Given the description of an element on the screen output the (x, y) to click on. 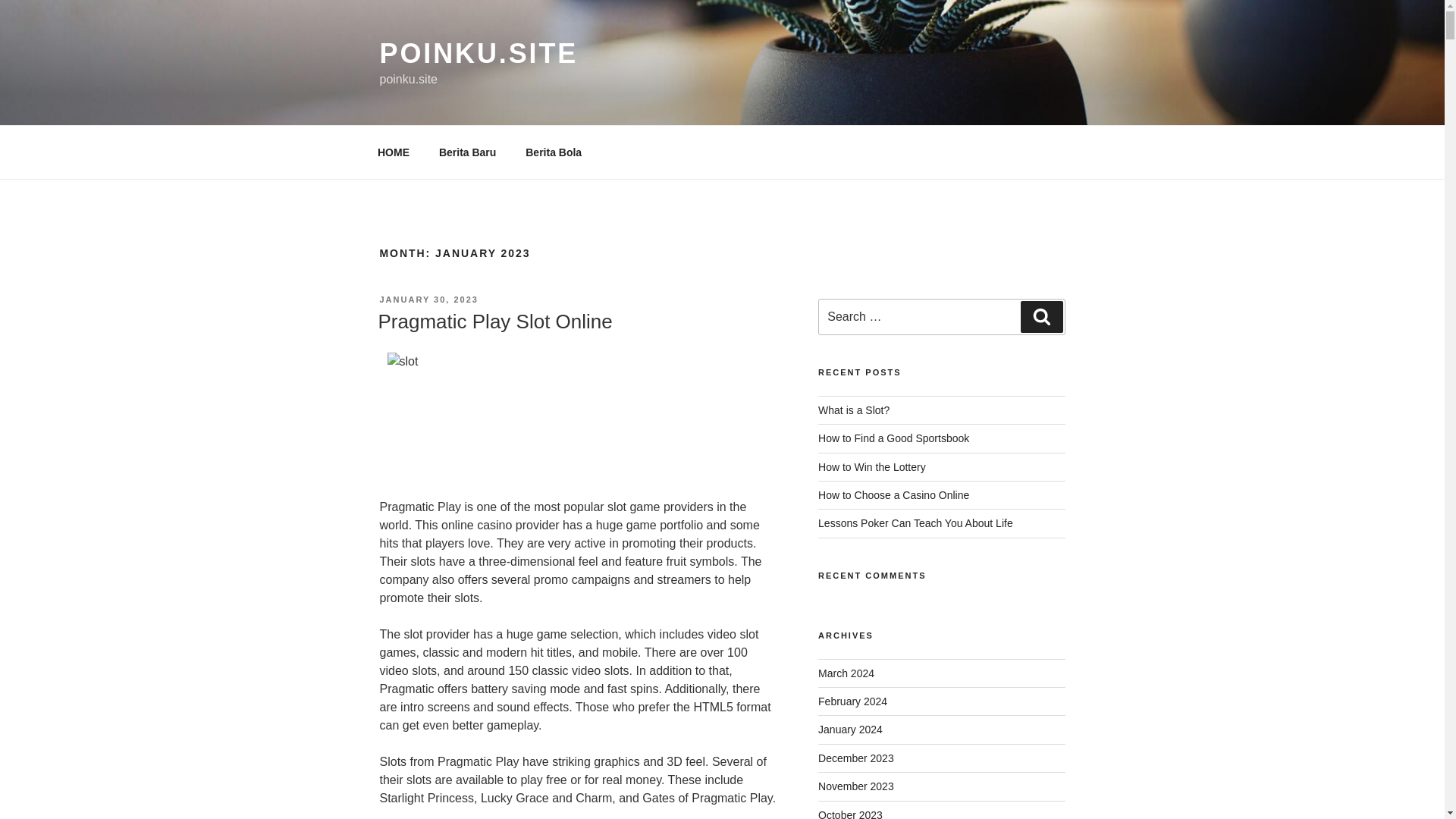
POINKU.SITE (478, 52)
Pragmatic Play Slot Online (494, 321)
HOME (393, 151)
JANUARY 30, 2023 (427, 298)
Berita Bola (553, 151)
Berita Baru (466, 151)
